Given the description of an element on the screen output the (x, y) to click on. 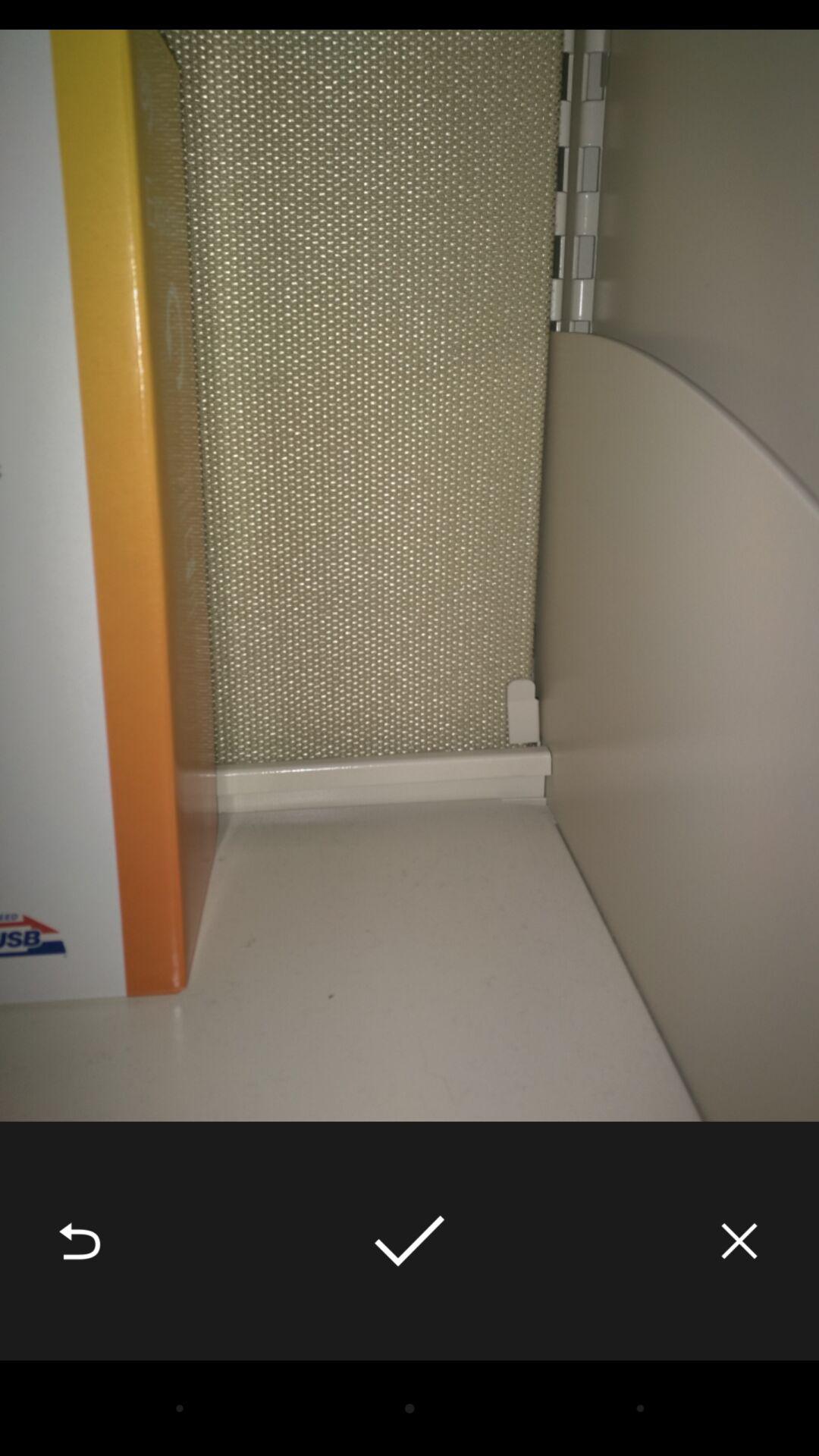
click item at the bottom left corner (79, 1240)
